Given the description of an element on the screen output the (x, y) to click on. 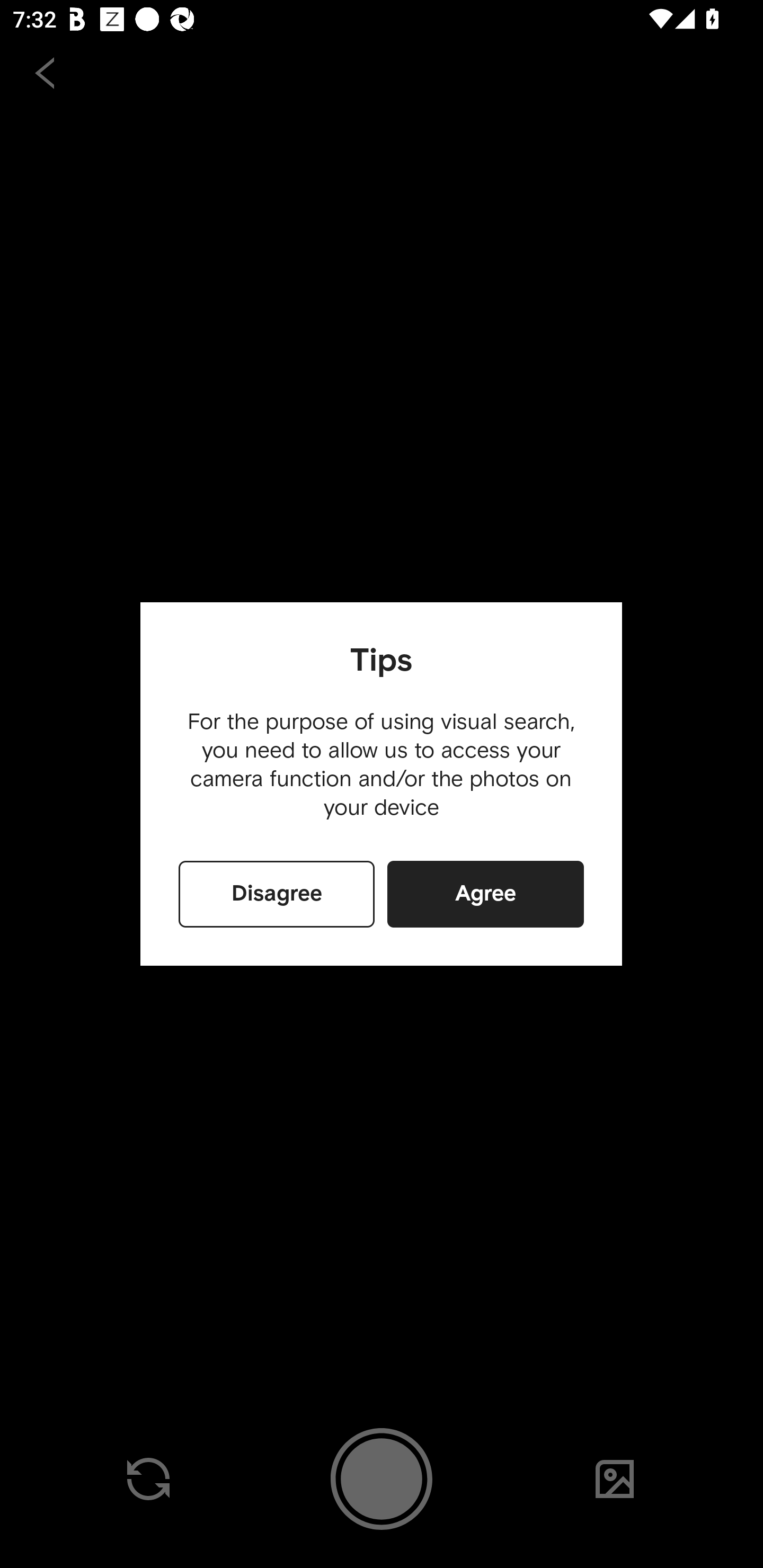
Disagree (276, 894)
Agree (485, 894)
